Given the description of an element on the screen output the (x, y) to click on. 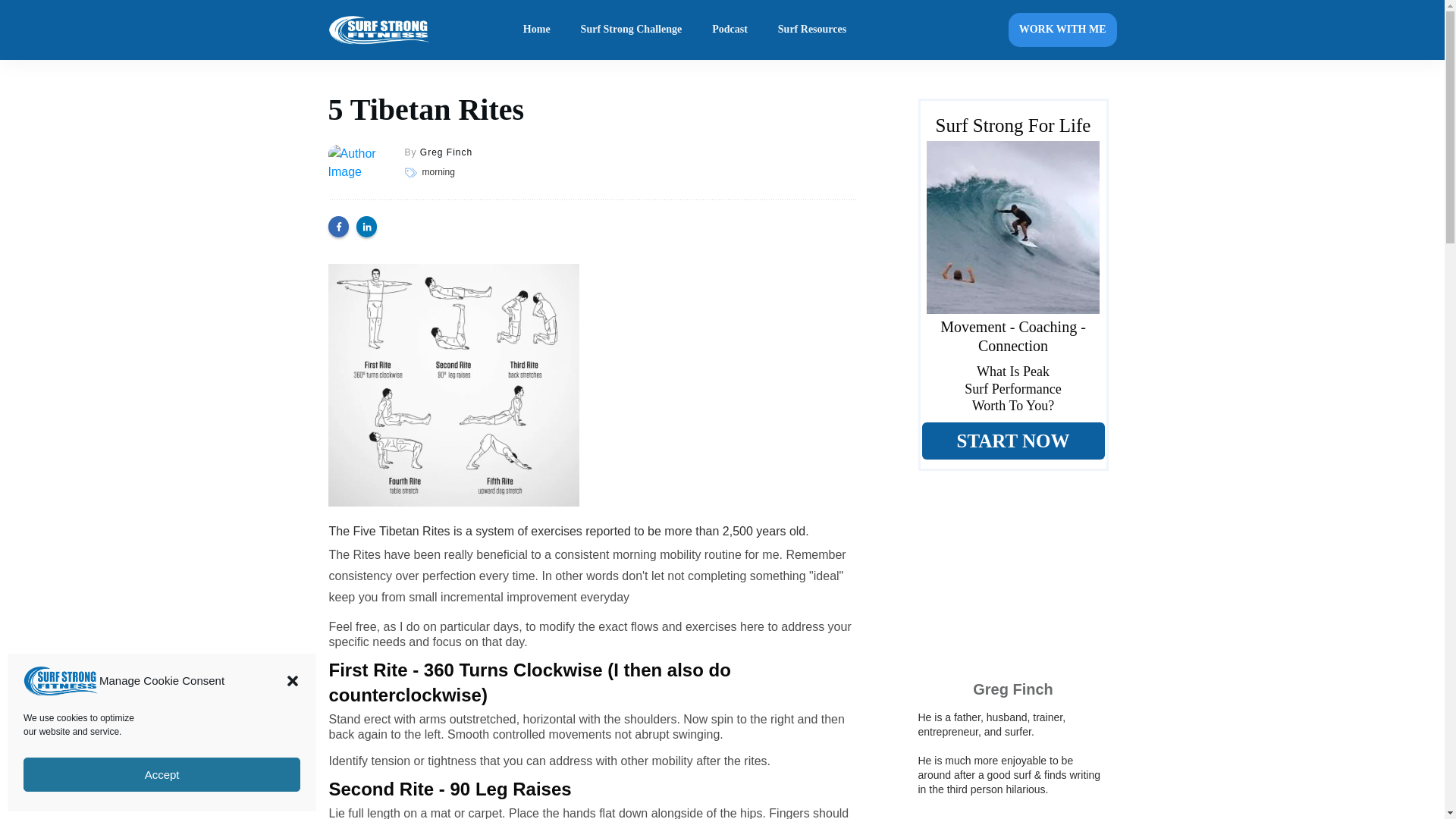
WORK WITH ME (1062, 29)
START NOW (1013, 441)
Screen Shot 2022-04-18 at 4.32.34 PM (452, 384)
Podcast (729, 29)
Surf Strong Challenge (631, 29)
RLZ Insta Andrew copy (1012, 226)
undefined (354, 171)
Accept (161, 774)
5 Tibetan Rites (425, 109)
Home (536, 29)
